Given the description of an element on the screen output the (x, y) to click on. 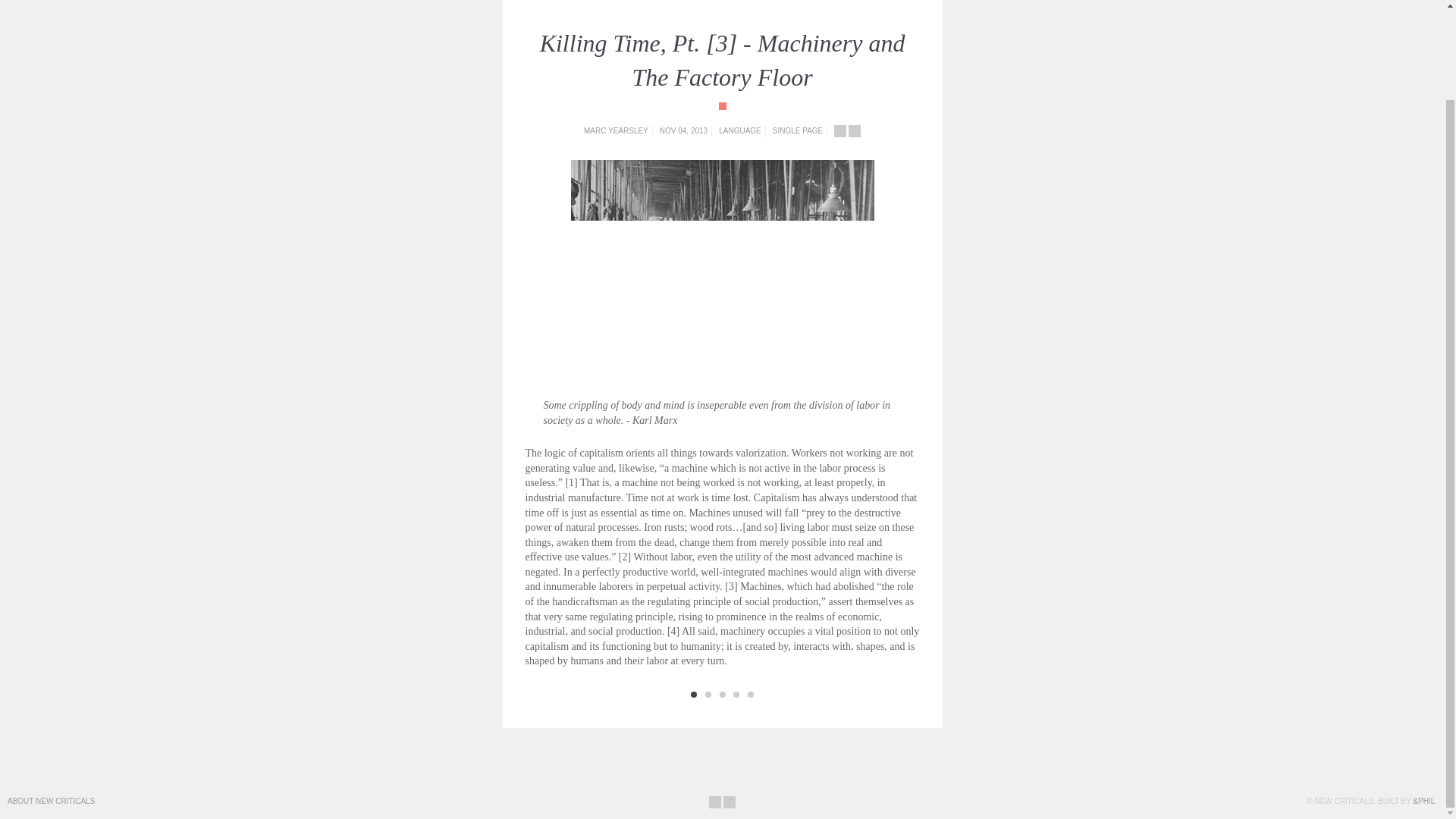
3 (722, 694)
ABOUT NEW CRITICALS (50, 800)
SHARE ON TWITTER (854, 131)
LANGUAGE (740, 130)
5 (751, 694)
SINGLE PAGE (798, 130)
4 (736, 694)
SHARE ON FACEBOOK (714, 802)
MARC YEARSLEY (615, 130)
2 (707, 694)
